Given the description of an element on the screen output the (x, y) to click on. 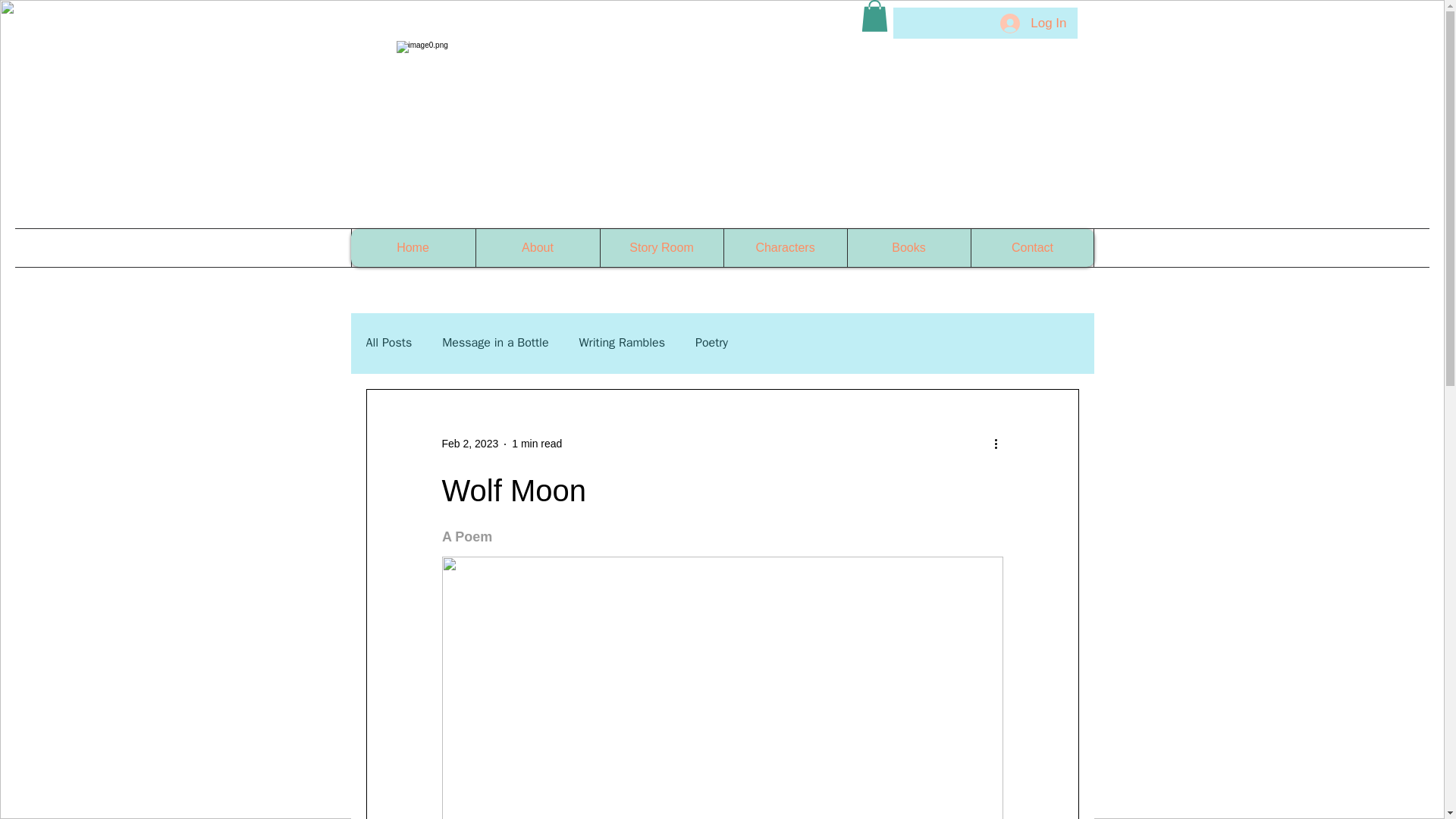
Message in a Bottle (495, 342)
About (536, 247)
Poetry (711, 342)
Feb 2, 2023 (469, 443)
Books (907, 247)
Home (412, 247)
Log In (1033, 23)
1 min read (537, 443)
Contact (1032, 247)
Story Room (660, 247)
Characters (785, 247)
All Posts (388, 342)
Writing Rambles (622, 342)
